Given the description of an element on the screen output the (x, y) to click on. 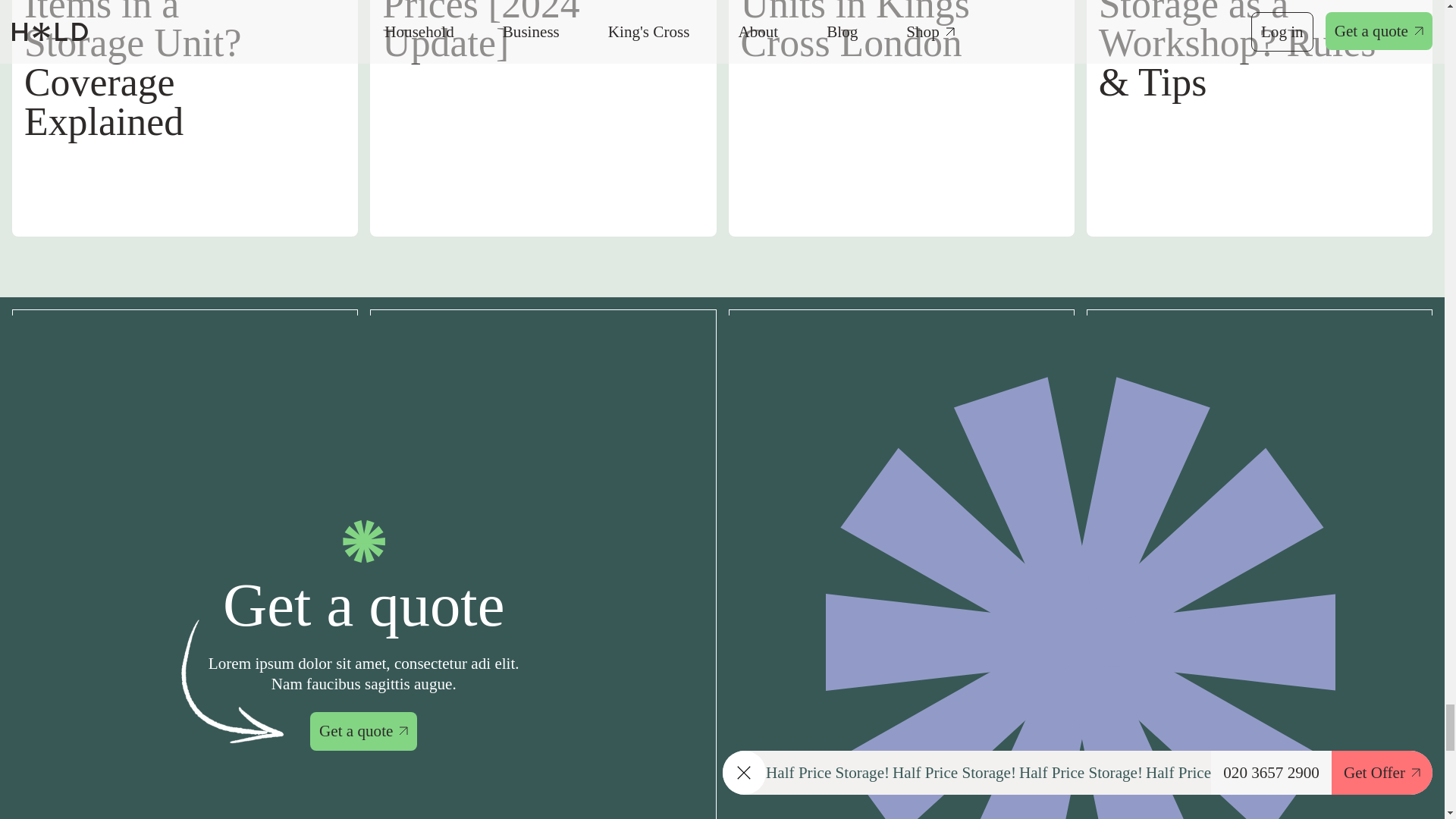
Can You Insure Items in a Storage Unit? Coverage Explained (184, 118)
Get a quote (363, 730)
The Best Storage Units in Kings Cross London (901, 118)
